Given the description of an element on the screen output the (x, y) to click on. 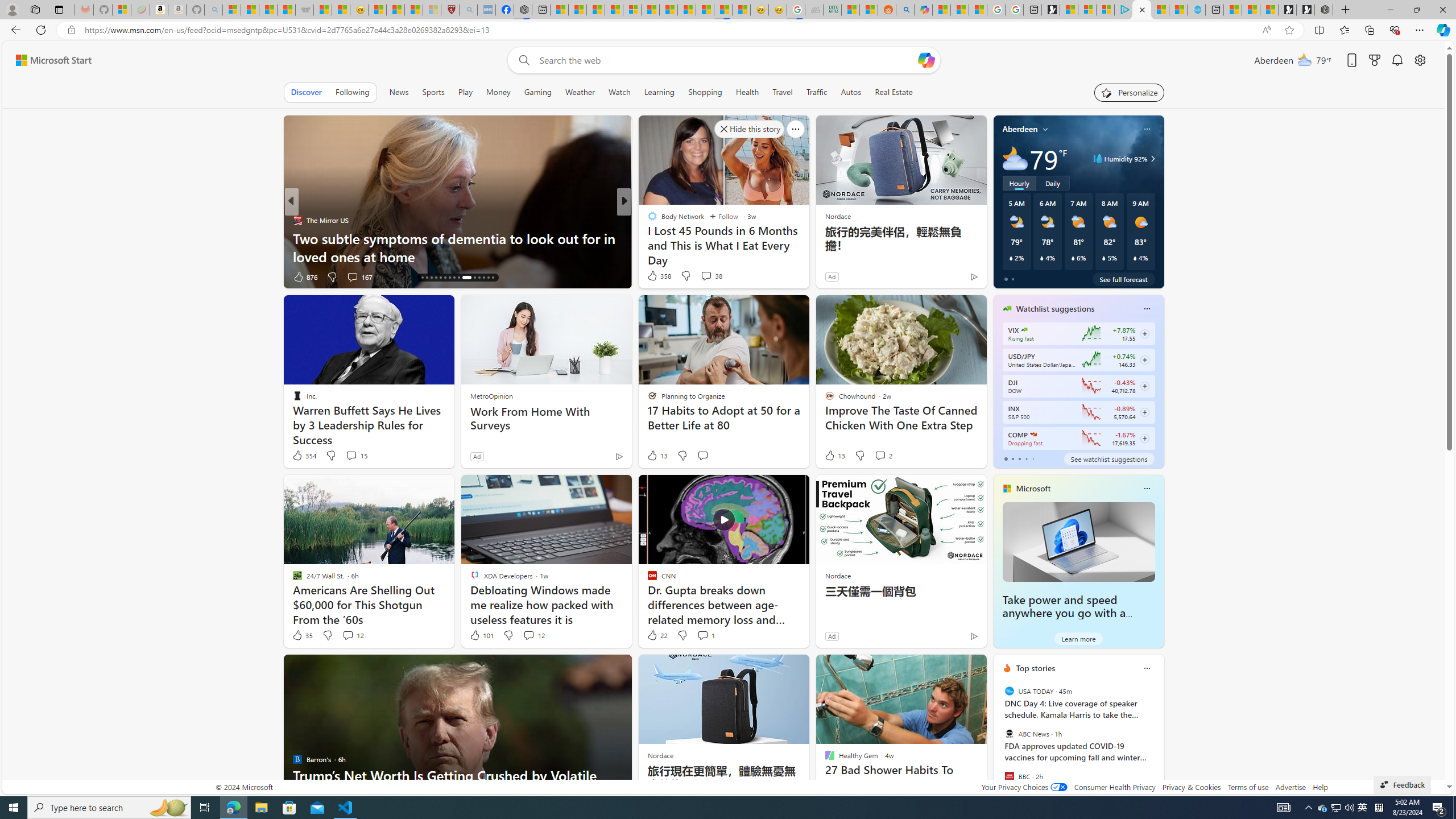
Travel (782, 92)
Personalize your feed" (1129, 92)
Parade (296, 219)
View comments 5 Comment (702, 276)
App bar (728, 29)
View comments 23 Comment (703, 276)
View comments 4 Comment (702, 276)
12 Popular Science Lies that Must be Corrected - Sleeping (431, 9)
Learning (658, 92)
Money (497, 92)
